Given the description of an element on the screen output the (x, y) to click on. 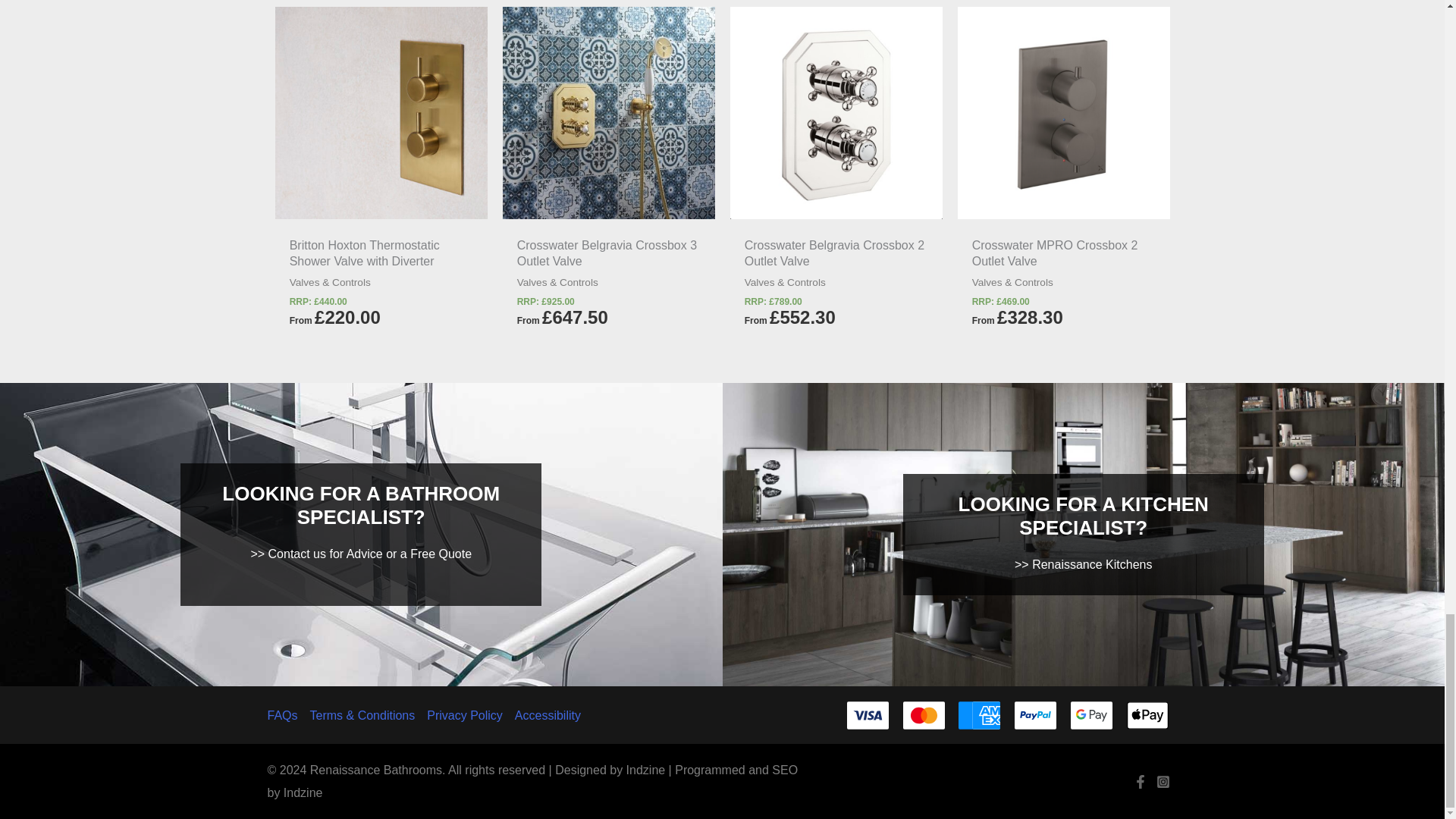
InDzine (645, 769)
